Given the description of an element on the screen output the (x, y) to click on. 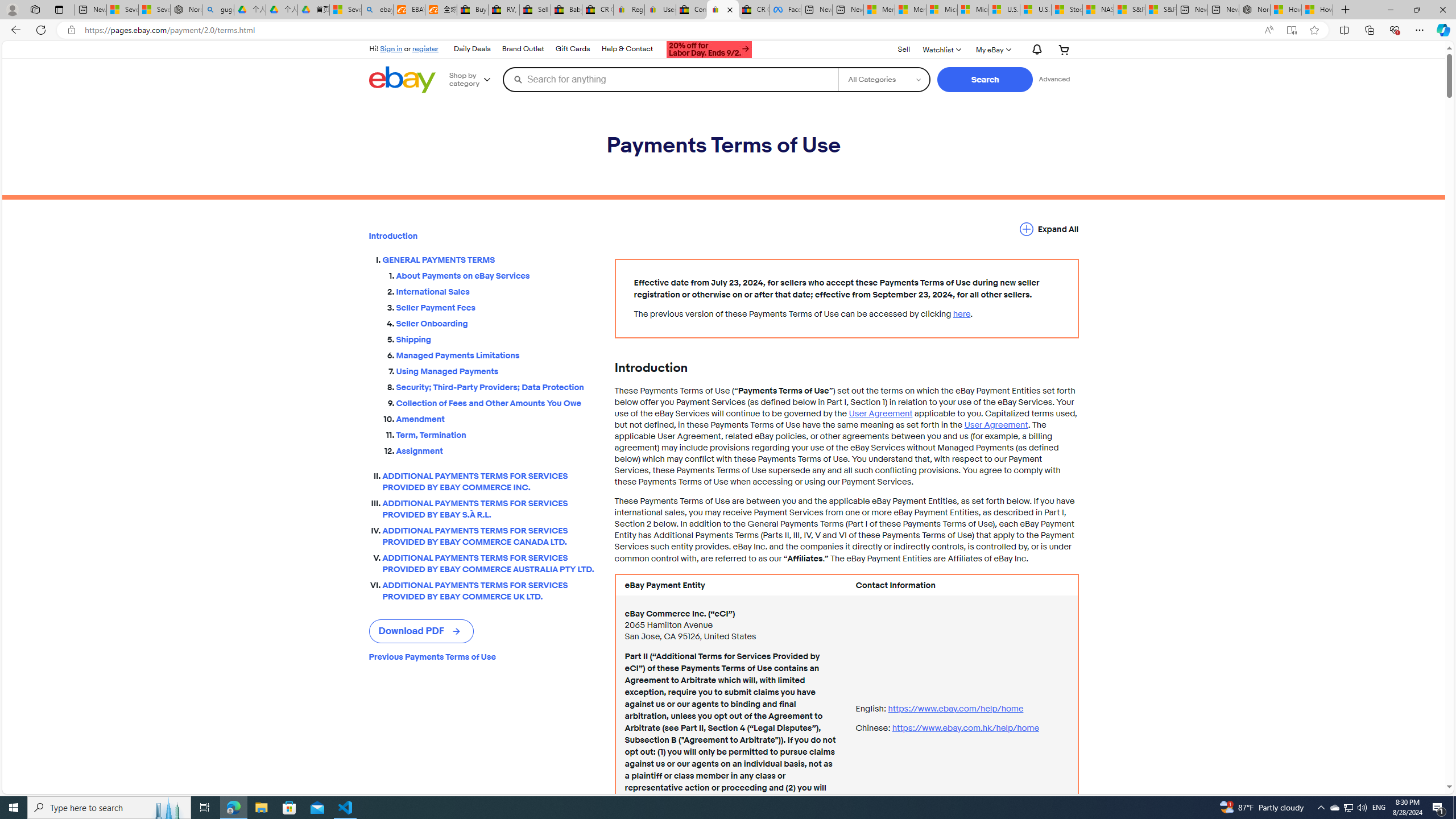
Gift Cards (571, 49)
My eBay (992, 49)
Daily Deals (471, 49)
eBay Home (401, 79)
Brand Outlet (521, 49)
Managed Payments Limitations (496, 355)
Sell (903, 49)
Shipping (496, 337)
Enter Immersive Reader (F9) (1291, 29)
Your shopping cart (1064, 49)
